Given the description of an element on the screen output the (x, y) to click on. 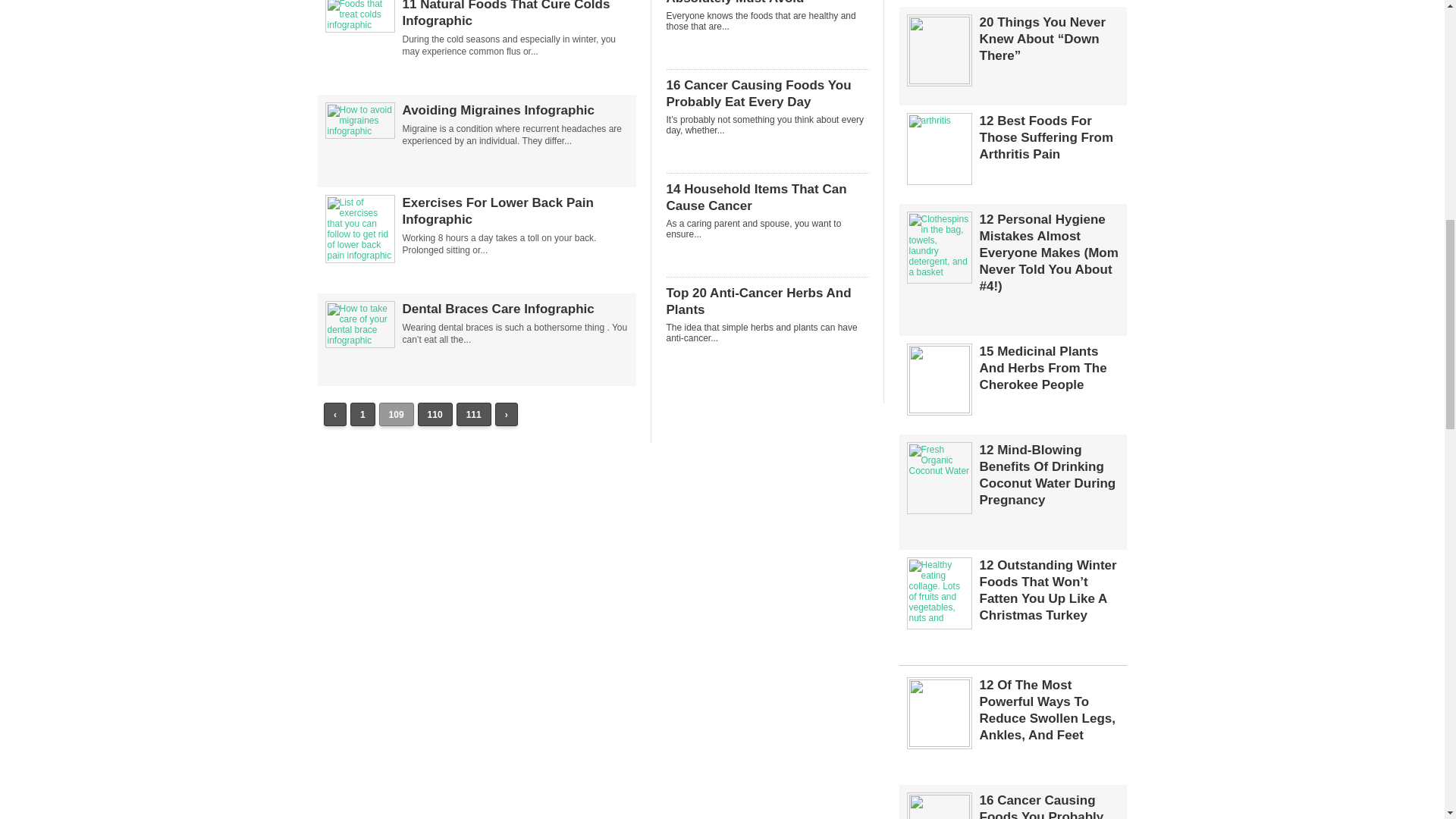
Exercises for Lower Back Pain Infographic (359, 255)
Avoiding Migraines Infographic (514, 110)
11 Natural Foods That Cure Colds Infographic (514, 14)
Dental Braces Care Infographic (514, 309)
Avoiding Migraines Infographic (359, 131)
Exercises For Lower Back Pain Infographic (514, 211)
11 Natural Foods that Cure Colds Infographic (359, 24)
Dental Braces Care Infographic (359, 339)
